Given the description of an element on the screen output the (x, y) to click on. 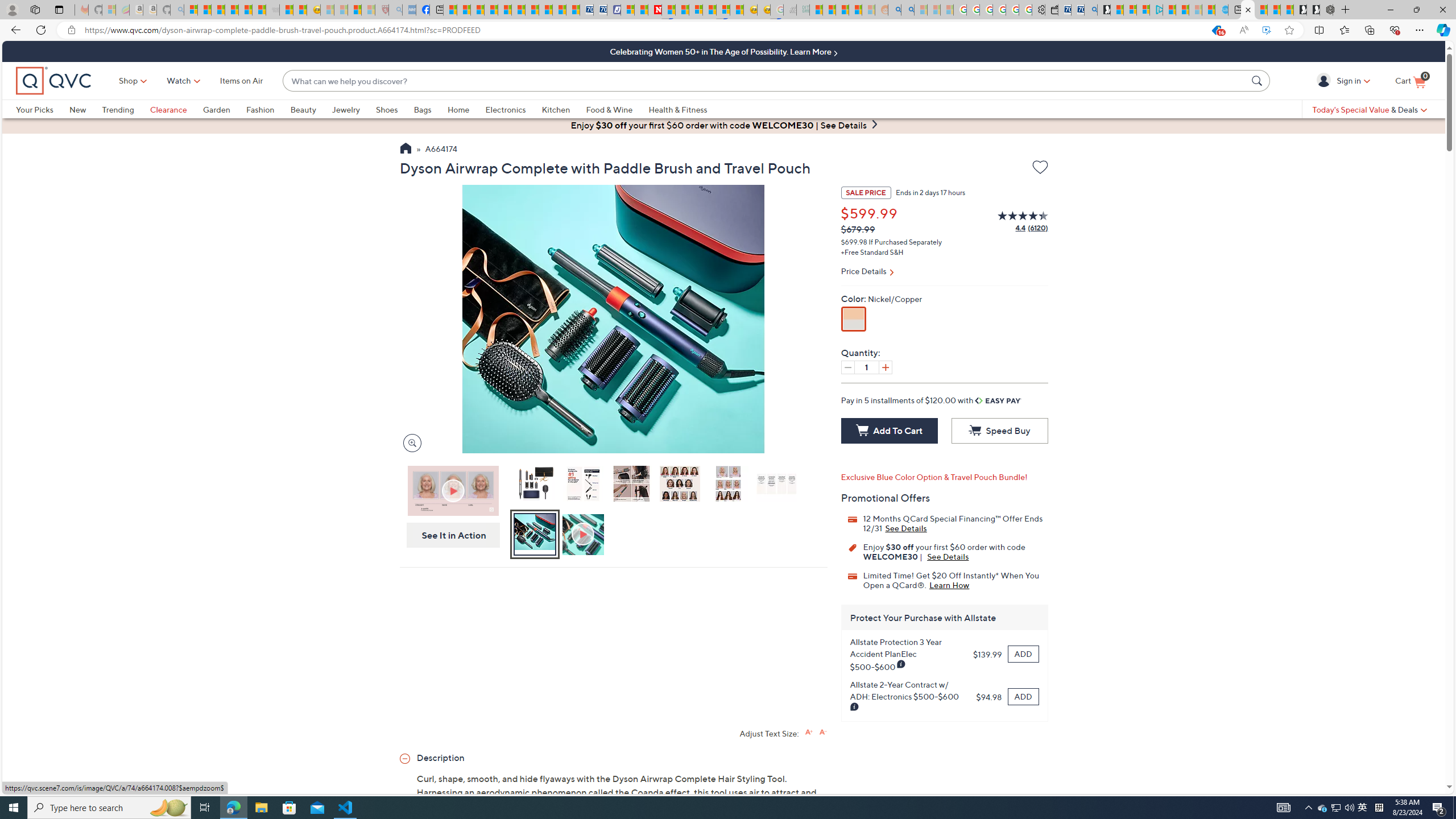
Class: infoIcon fancybox fancybox.ajax (855, 706)
Increase quantity by 1 (884, 367)
World - MSN (477, 9)
Shoes (386, 109)
New (76, 109)
Return to QVC Homepage (405, 149)
Fashion (260, 109)
SALE PRICE (865, 192)
Your Picks (42, 109)
